Given the description of an element on the screen output the (x, y) to click on. 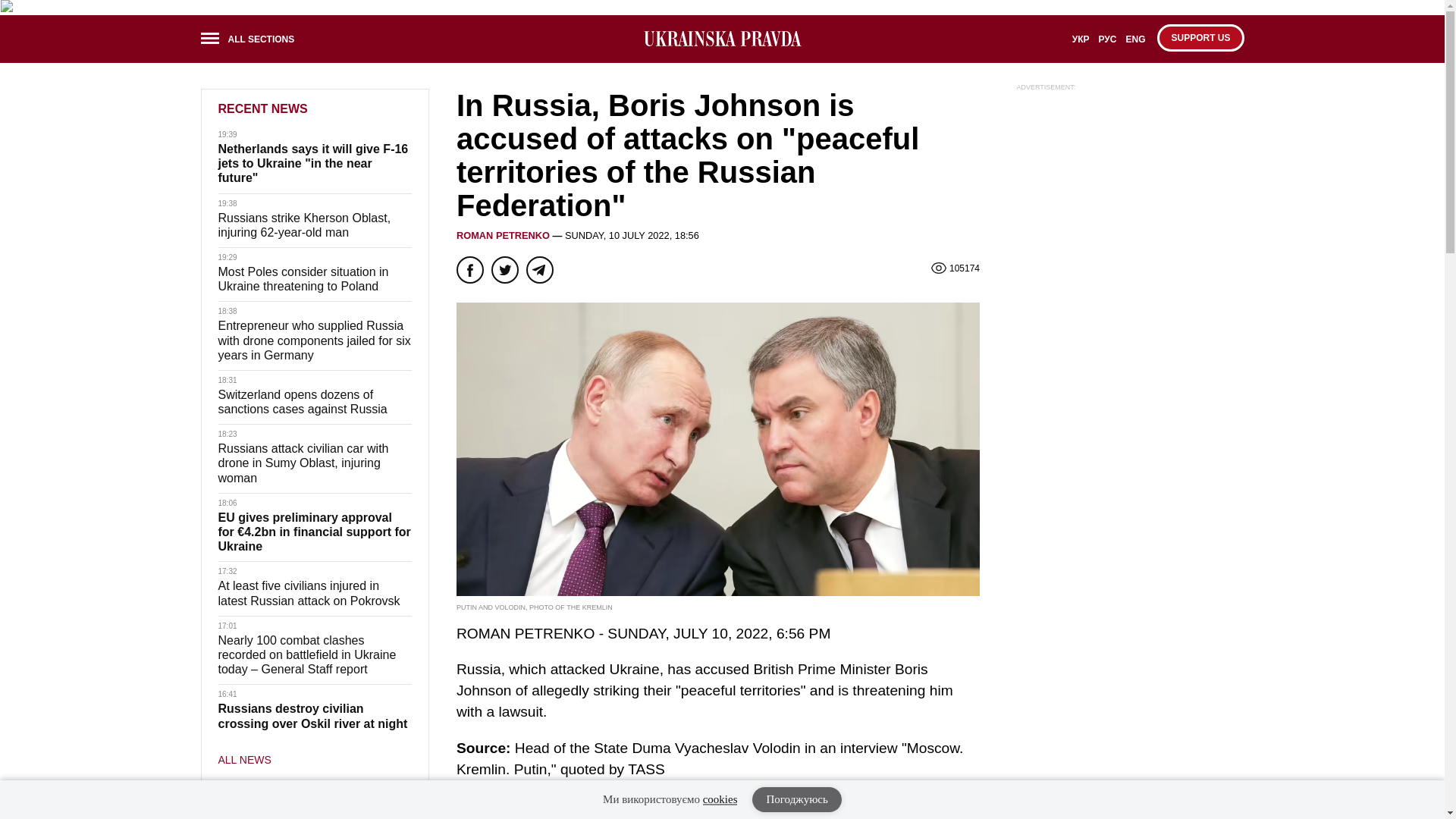
Russians strike Kherson Oblast, injuring 62-year-old man (304, 225)
RECENT NEWS (262, 108)
SUPPORT US (1200, 37)
Ukrainska pravda (722, 40)
ENG (1135, 43)
ALL SECTIONS (251, 41)
3rd party ad content (1129, 194)
Ukrainska pravda (722, 38)
ROMAN PETRENKO (503, 235)
